Given the description of an element on the screen output the (x, y) to click on. 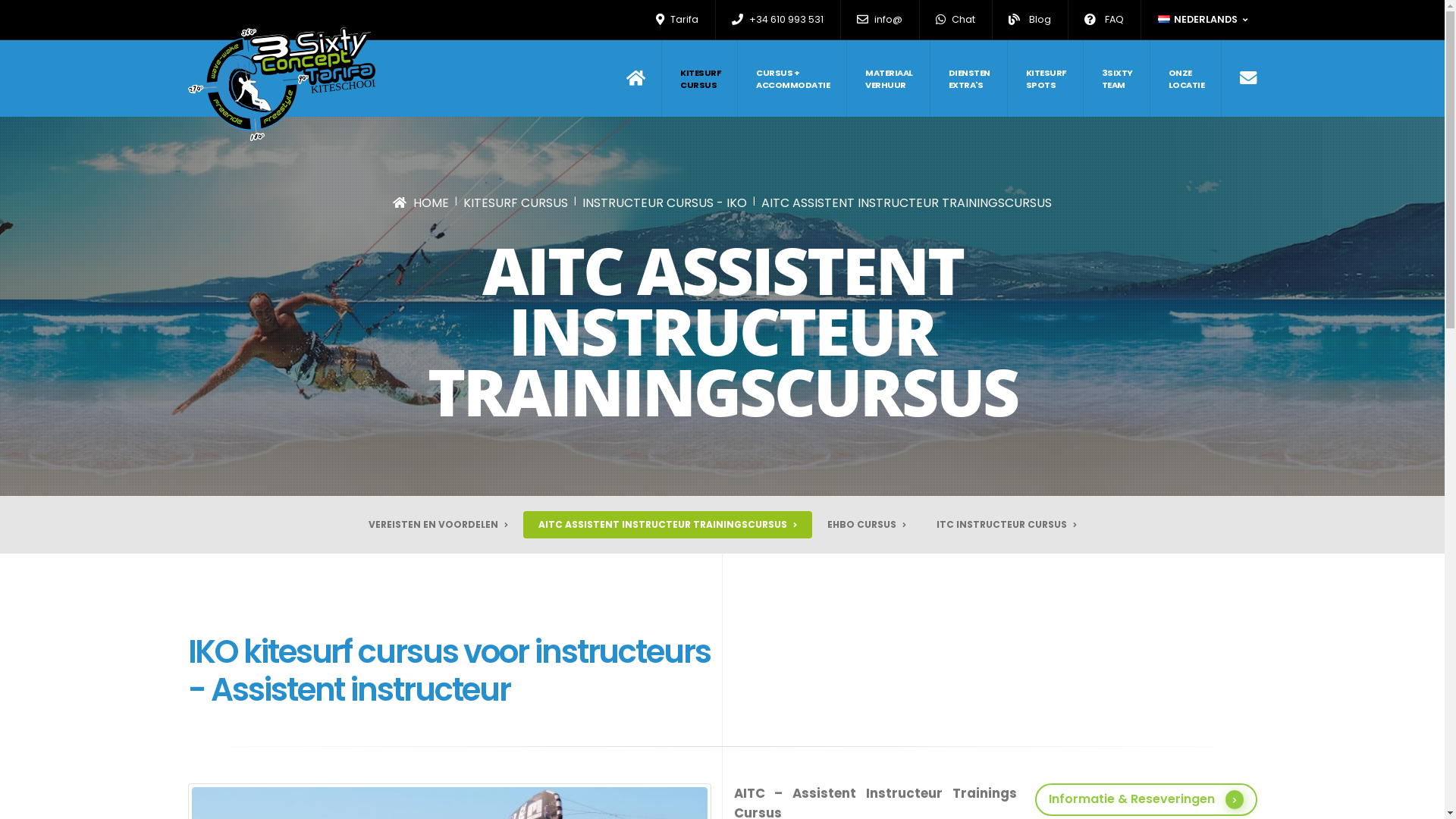
Blog Element type: text (1029, 19)
CURSUS + ACCOMMODATIE Element type: text (793, 78)
KITESURF SPOTS Element type: text (1045, 78)
Informatie & Reseveringen Element type: text (1145, 799)
EHBO CURSUS Element type: text (865, 524)
ONZE LOCATIE Element type: text (1186, 78)
AITC ASSISTENT INSTRUCTEUR TRAININGSCURSUS Element type: text (906, 202)
+34 610 993 531 Element type: text (777, 19)
Tarifa Element type: text (677, 19)
INSTRUCTEUR CURSUS - IKO Element type: text (664, 202)
KITESURF CURSUS Element type: text (515, 202)
AITC ASSISTENT INSTRUCTEUR TRAININGSCURSUS Element type: text (667, 524)
ITC INSTRUCTEUR CURSUS Element type: text (1005, 524)
VEREISTEN EN VOORDELEN Element type: text (438, 524)
NEDERLANDS Element type: text (1202, 19)
3SIXTY TEAM Element type: text (1116, 78)
FAQ Element type: text (1103, 19)
info@ Element type: text (879, 19)
Home Element type: hover (644, 78)
Chat Element type: text (955, 19)
MATERIAAL VERHUUR Element type: text (889, 78)
Home - 3Sixty Kitesurf School Tarifa Element type: hover (281, 83)
KITESURF CURSUS Element type: text (700, 78)
HOME Element type: text (420, 202)
DIENSTEN EXTRA'S Element type: text (969, 78)
